Given the description of an element on the screen output the (x, y) to click on. 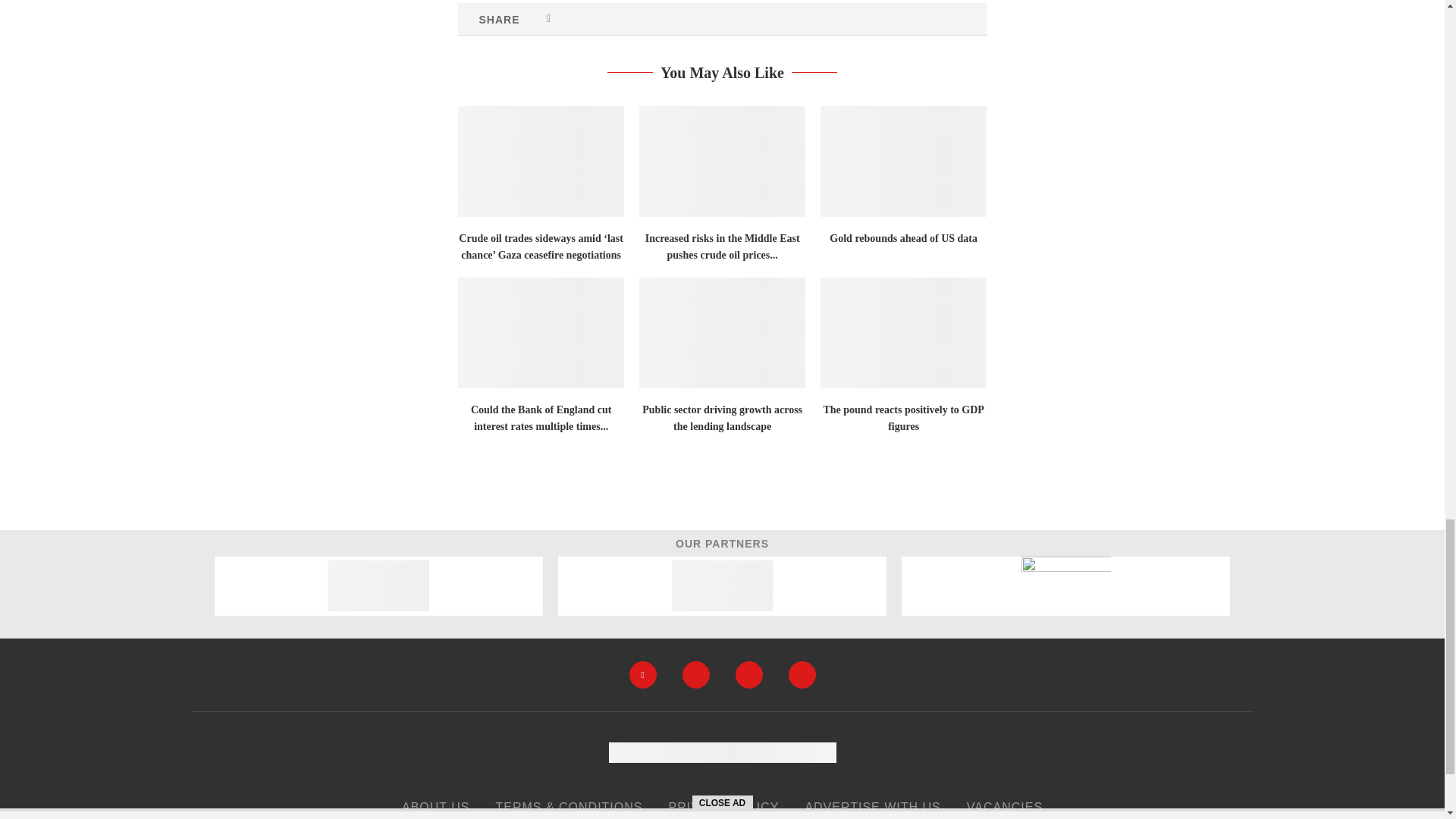
Public sector driving growth across the lending landscape (722, 332)
Gold rebounds ahead of US data (904, 161)
The pound reacts positively to GDP figures (904, 332)
